Given the description of an element on the screen output the (x, y) to click on. 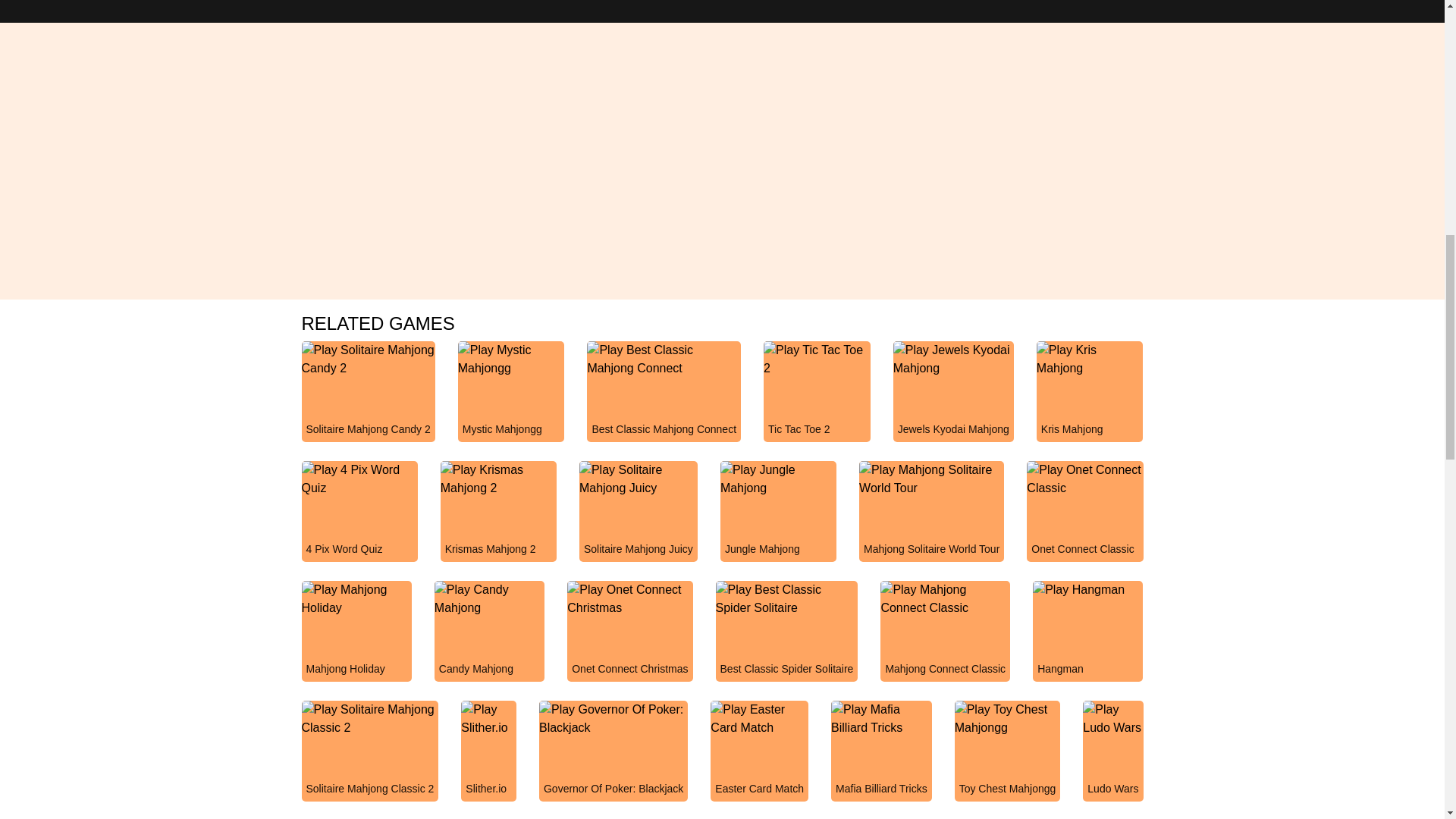
Krismas Mahjong 2 (498, 526)
Jewels Kyodai Mahjong (953, 406)
Kris Mahjong (1089, 406)
Solitaire Mahjong Candy 2 (368, 406)
Mystic Mahjongg (511, 406)
4 Pix Word Quiz (359, 526)
Tic Tac Toe 2 (816, 406)
Best Classic Mahjong Connect (663, 406)
